Given the description of an element on the screen output the (x, y) to click on. 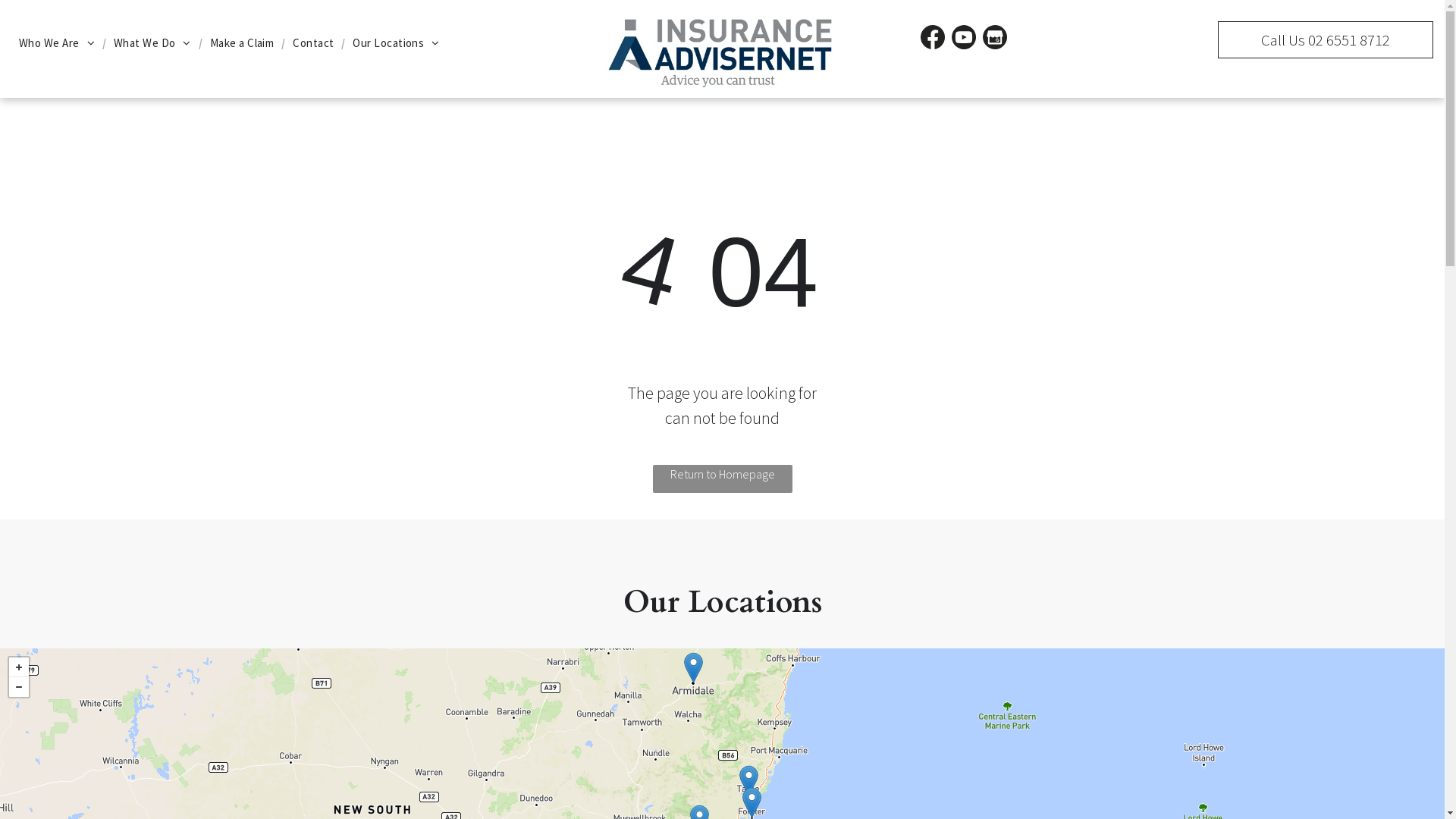
Call Us 02 6551 8712 Element type: text (1325, 39)
Find Us On Facebook Element type: hover (932, 37)
Contact Element type: text (313, 43)
Make a Claim Element type: text (241, 43)
Return to Homepage Element type: text (721, 478)
- Element type: text (18, 686)
Subscribe To Us On YouTube Element type: hover (963, 37)
Find Us On GMB Element type: hover (994, 37)
Who We Are Element type: text (56, 43)
Forster NSW 2428, Australia Element type: hover (751, 802)
Our Locations Element type: text (395, 43)
+ Element type: text (18, 667)
What We Do Element type: text (152, 43)
